Given the description of an element on the screen output the (x, y) to click on. 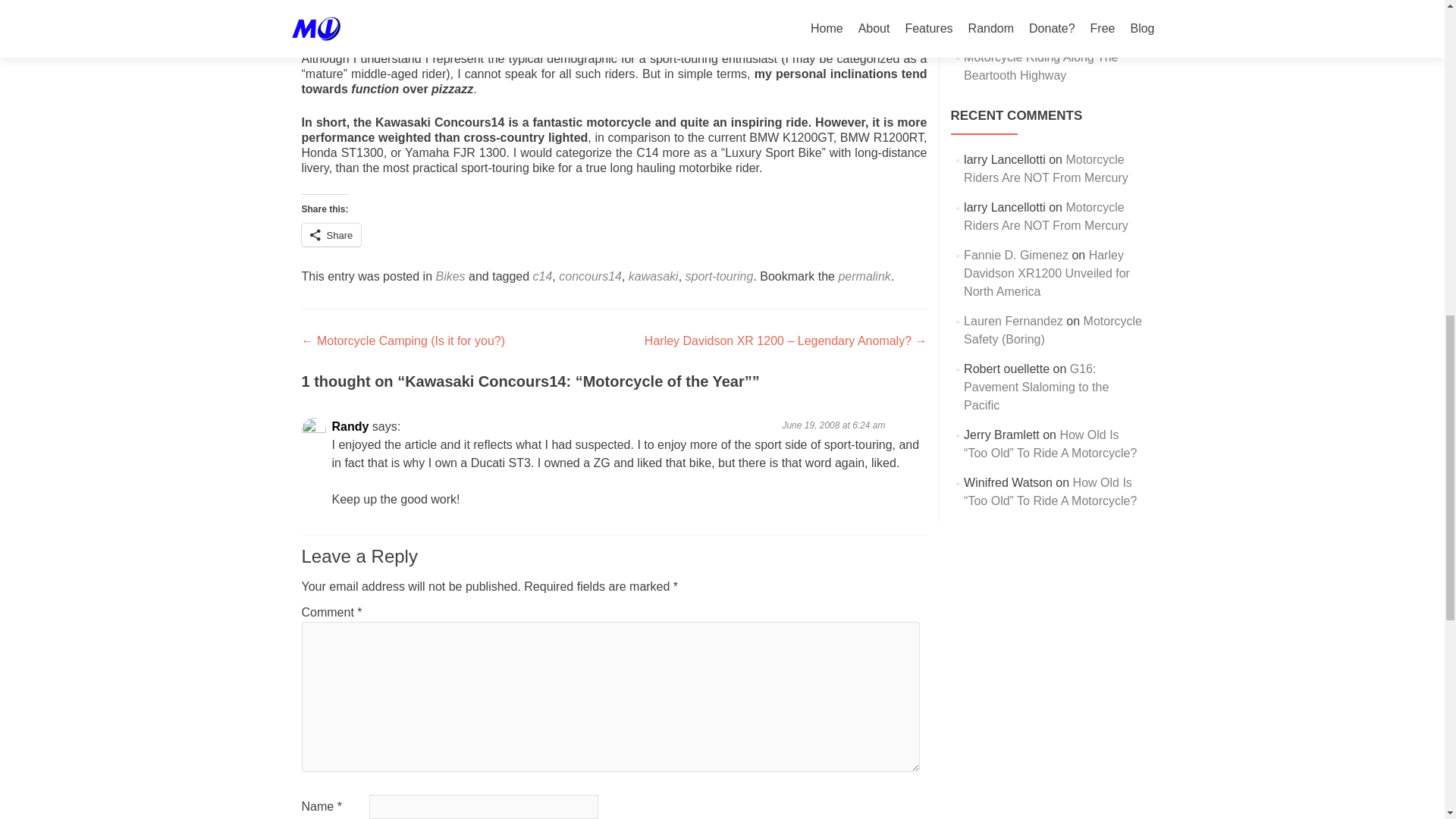
kawasaki (653, 276)
concours14 (590, 276)
sport-touring (719, 276)
Bikes (449, 276)
Motorcycle Rain Riding: What to Wear (1050, 18)
Share (331, 234)
Motorcycle Riding Along The Beartooth Highway (1040, 65)
permalink (863, 276)
June 19, 2008 at 6:24 am (833, 425)
c14 (542, 276)
